Given the description of an element on the screen output the (x, y) to click on. 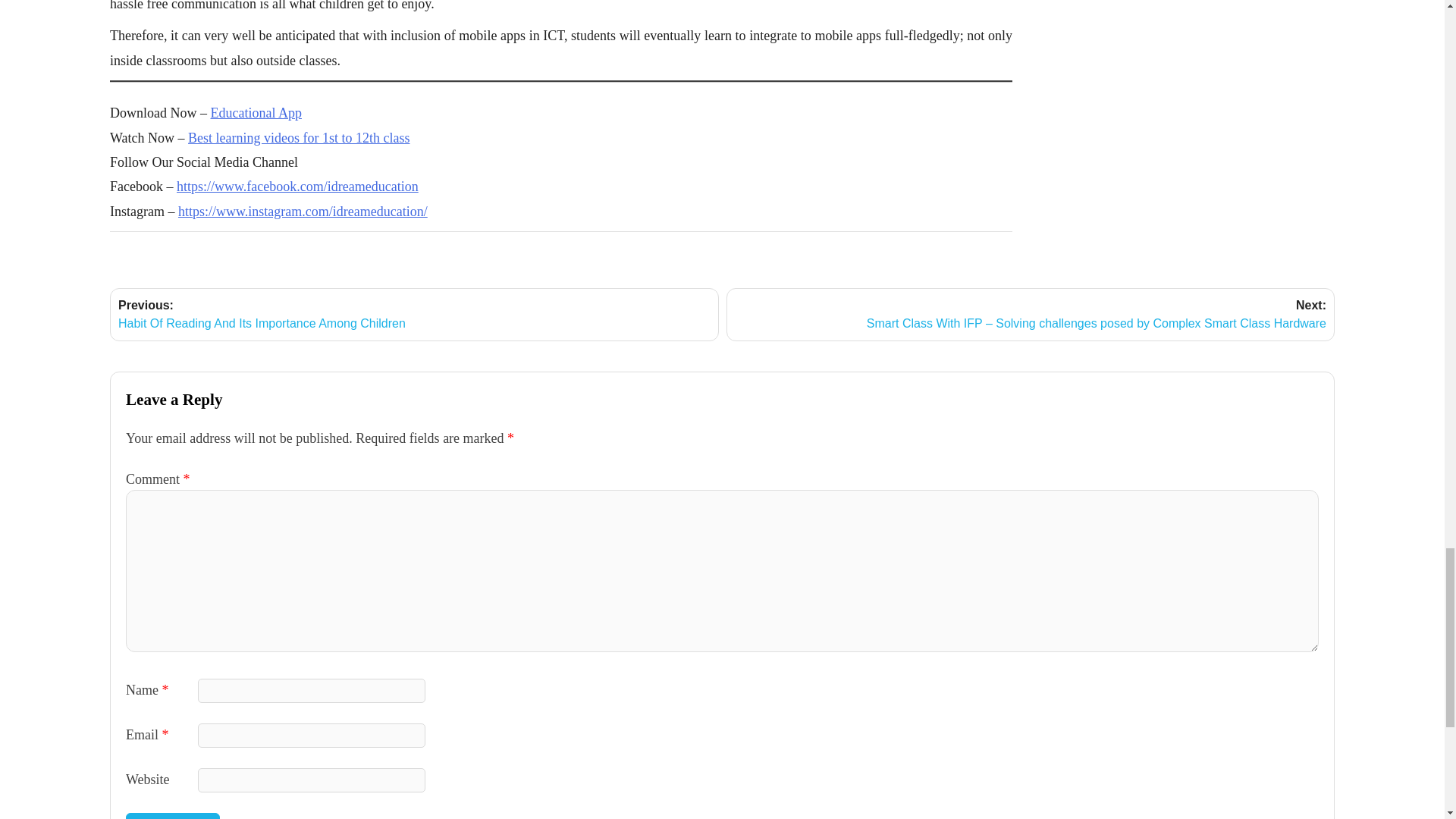
Educational App (256, 112)
Best learning videos for 1st to 12th class (298, 137)
Post Comment (172, 816)
